Given the description of an element on the screen output the (x, y) to click on. 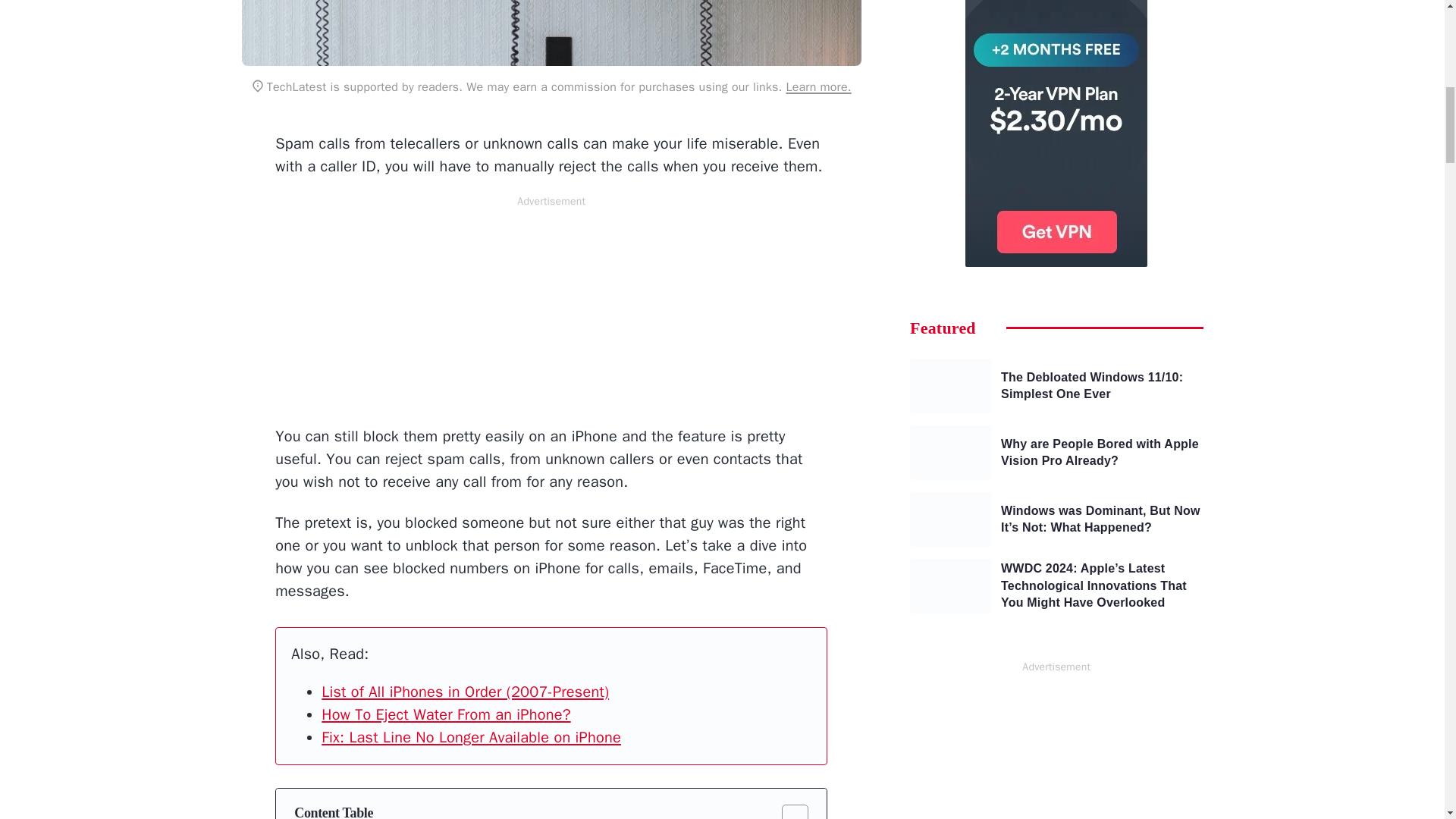
Learn more. (818, 87)
How To Eject Water From an iPhone? (445, 714)
Fix: Last Line No Longer Available on iPhone (471, 737)
